Given the description of an element on the screen output the (x, y) to click on. 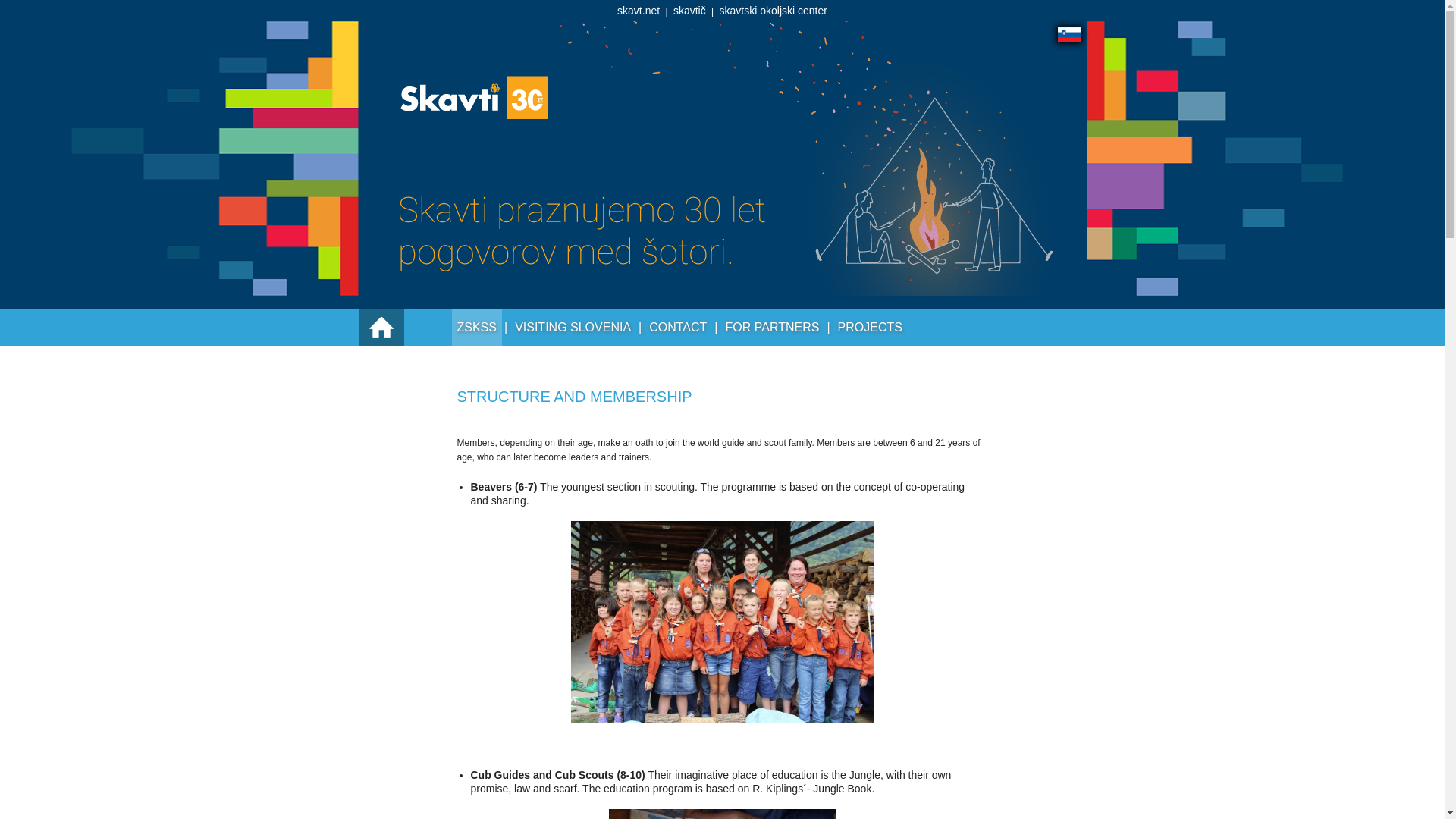
skavt.net (638, 10)
PRVA STRAN (380, 327)
Slovensko (1068, 34)
FOR PARTNERS (772, 327)
PROJECTS (869, 327)
VISITING SLOVENIA (572, 327)
skavtski okoljski center (772, 10)
CONTACT (677, 327)
ZSKSS (476, 327)
